Given the description of an element on the screen output the (x, y) to click on. 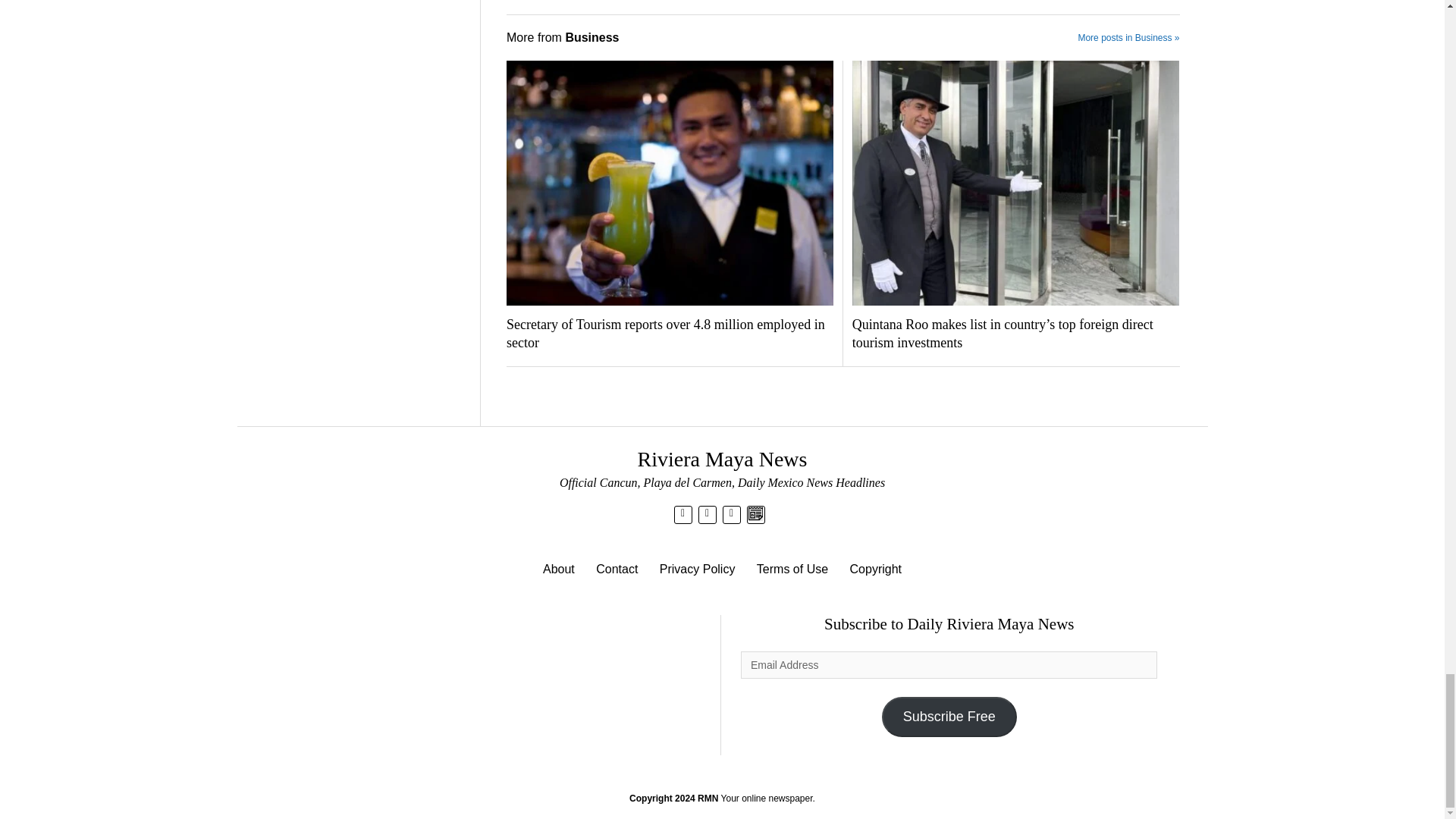
rss (731, 512)
facebook (706, 512)
